Given the description of an element on the screen output the (x, y) to click on. 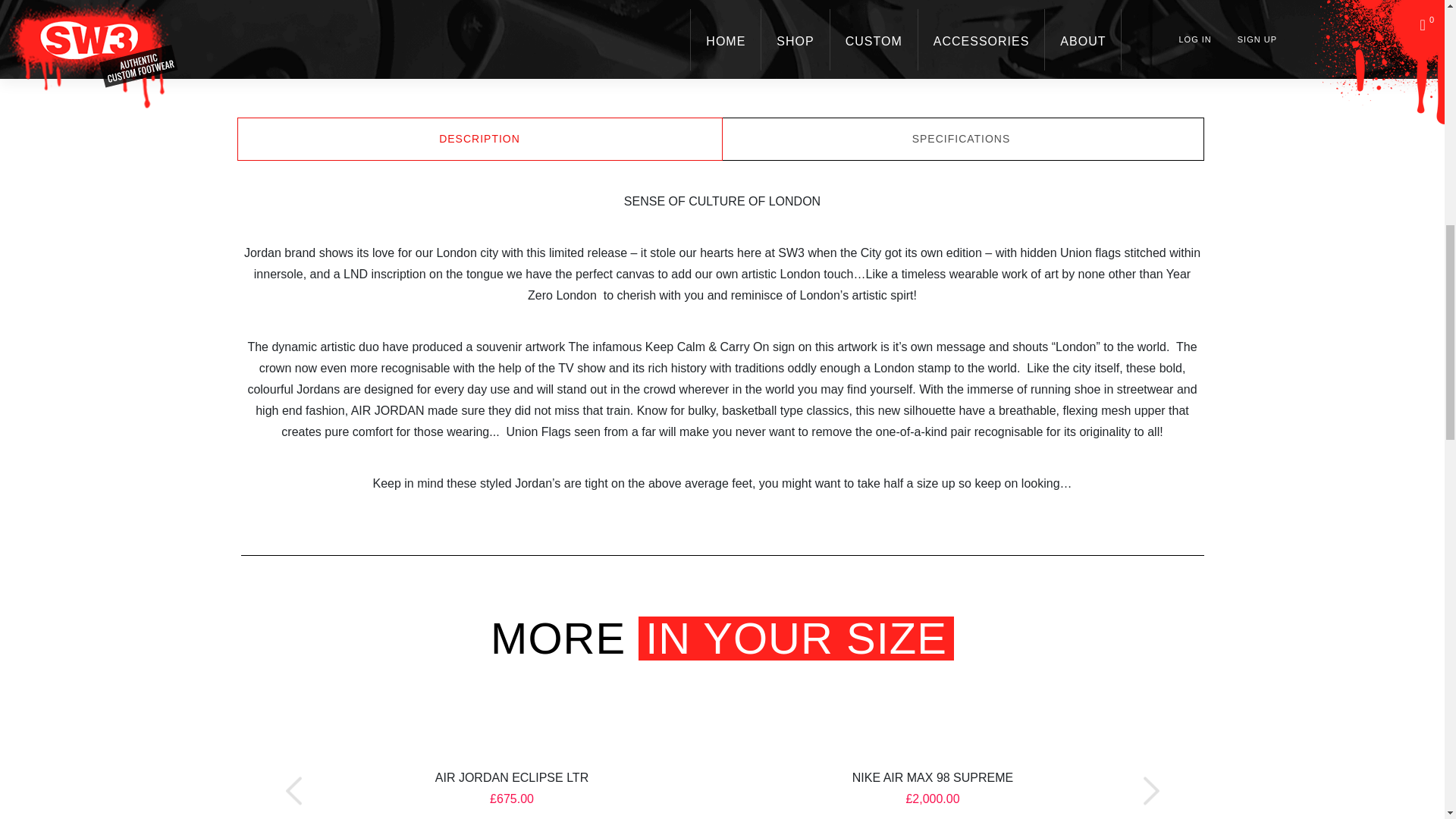
SPECIFICATIONS (961, 139)
DESCRIPTION (479, 139)
